Given the description of an element on the screen output the (x, y) to click on. 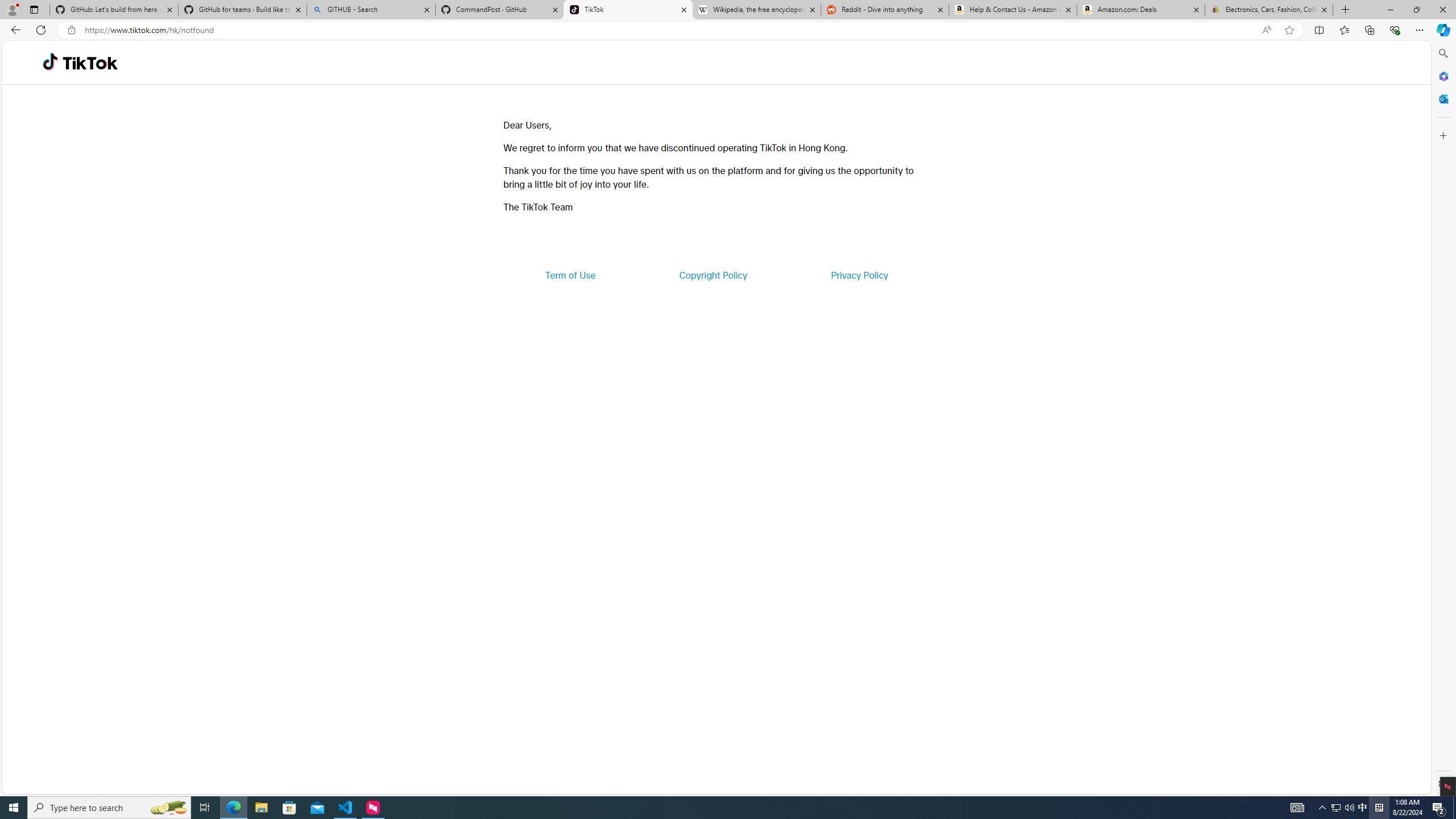
Privacy Policy (858, 274)
Copyright Policy (712, 274)
